Given the description of an element on the screen output the (x, y) to click on. 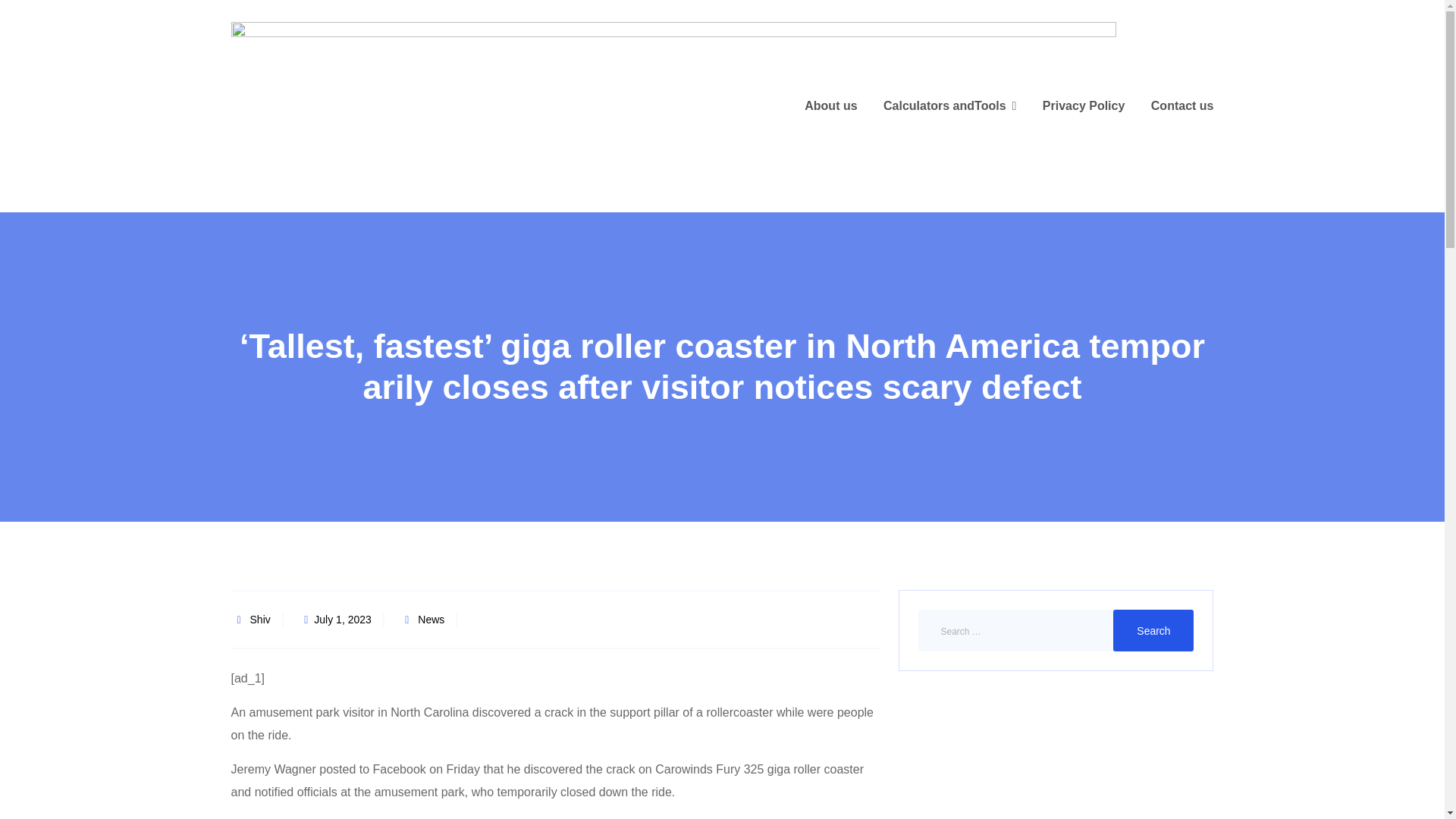
Calculators andTools (949, 106)
News (430, 619)
Search (1153, 630)
About us (831, 106)
Contact us (1182, 106)
Search (1153, 630)
July 1, 2023 (334, 619)
Privacy Policy (1083, 106)
Shiv (260, 619)
Search (1153, 630)
